Given the description of an element on the screen output the (x, y) to click on. 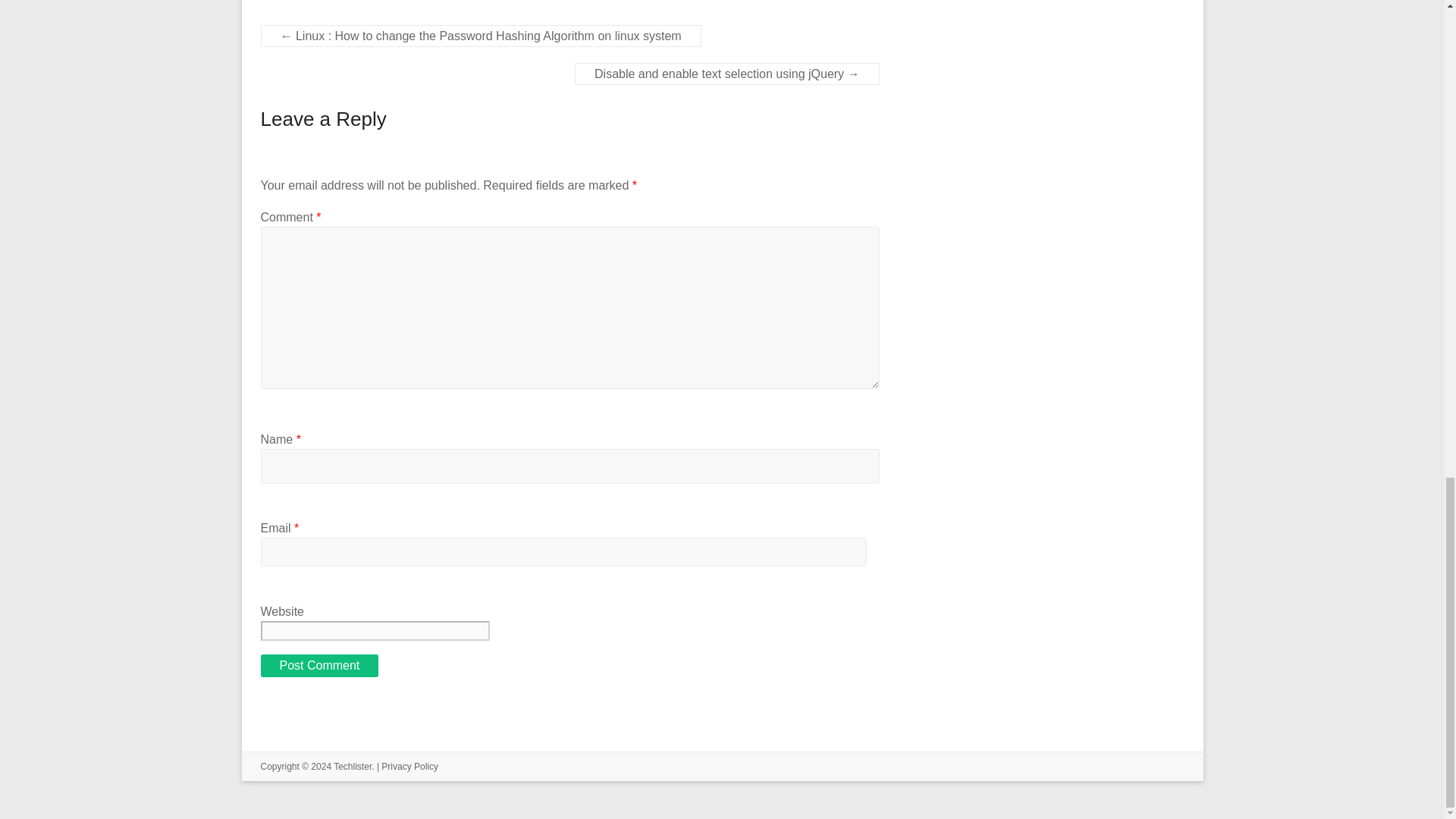
Techlister (352, 766)
Post Comment (319, 665)
Post Comment (319, 665)
Techlister (352, 766)
Privacy Policy (409, 766)
